Given the description of an element on the screen output the (x, y) to click on. 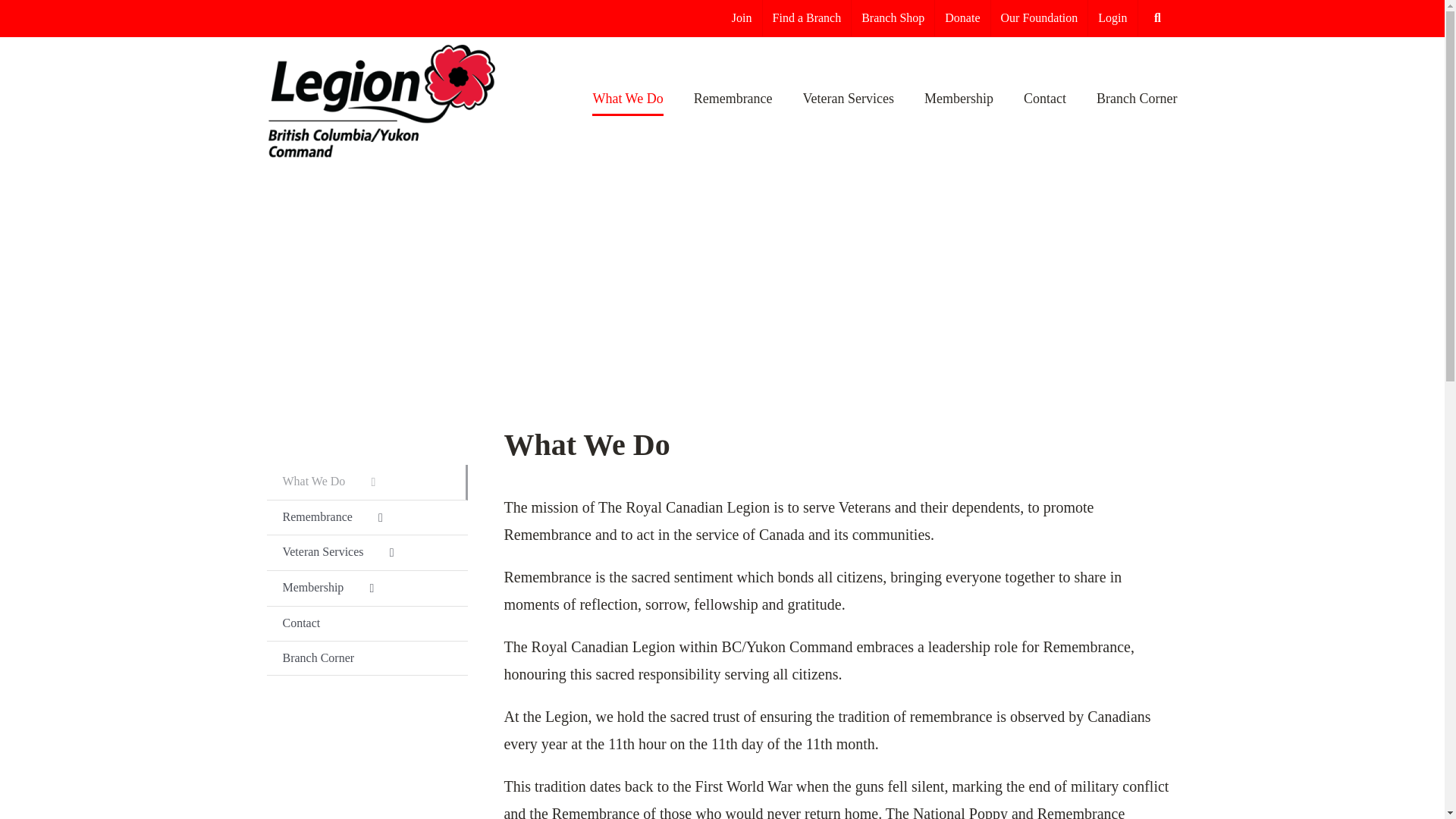
Donate (962, 18)
Branch Shop (892, 18)
Login (1112, 18)
Our Foundation (1038, 18)
Join (741, 18)
Find a Branch (806, 18)
